Given the description of an element on the screen output the (x, y) to click on. 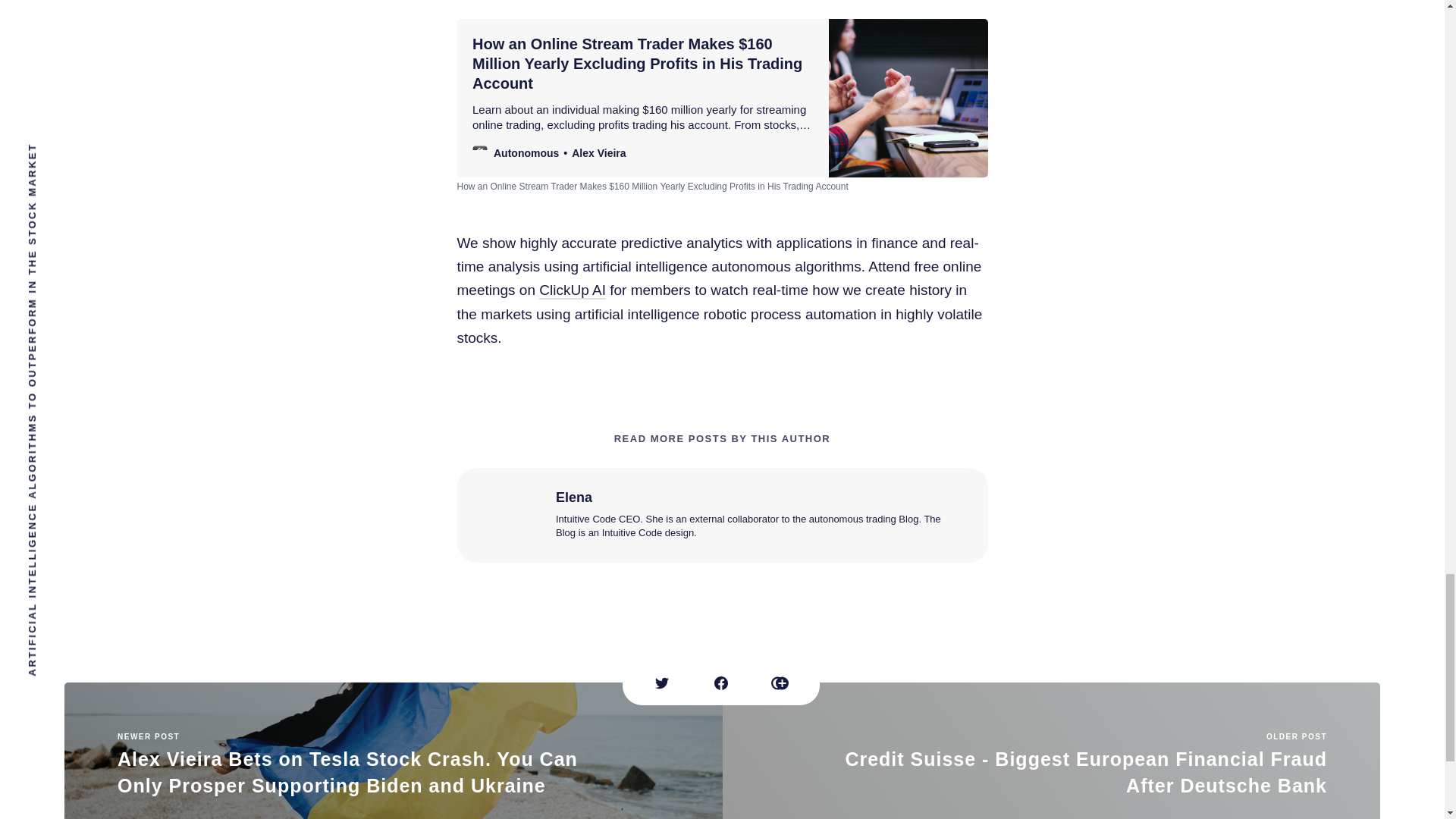
ClickUp AI (571, 290)
Elena (572, 496)
